Given the description of an element on the screen output the (x, y) to click on. 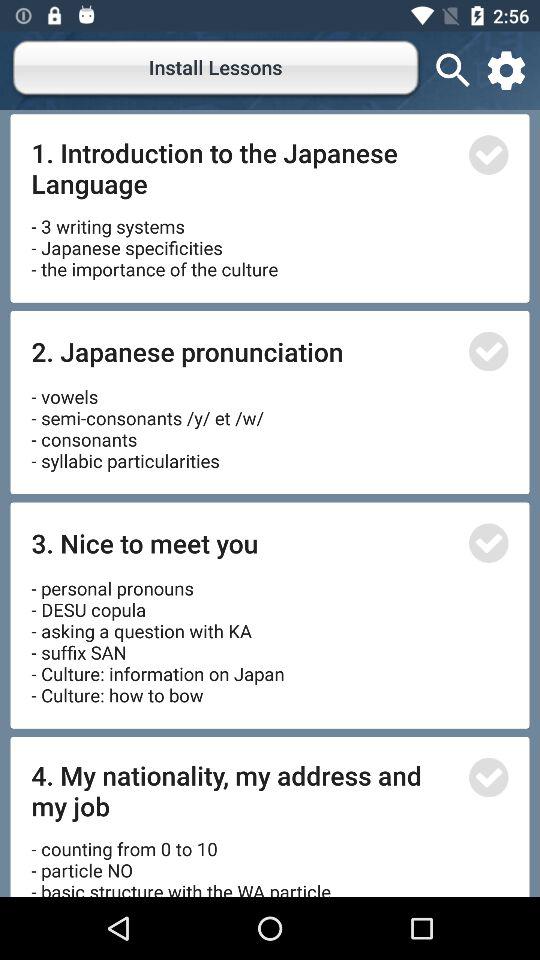
configurations (506, 70)
